Given the description of an element on the screen output the (x, y) to click on. 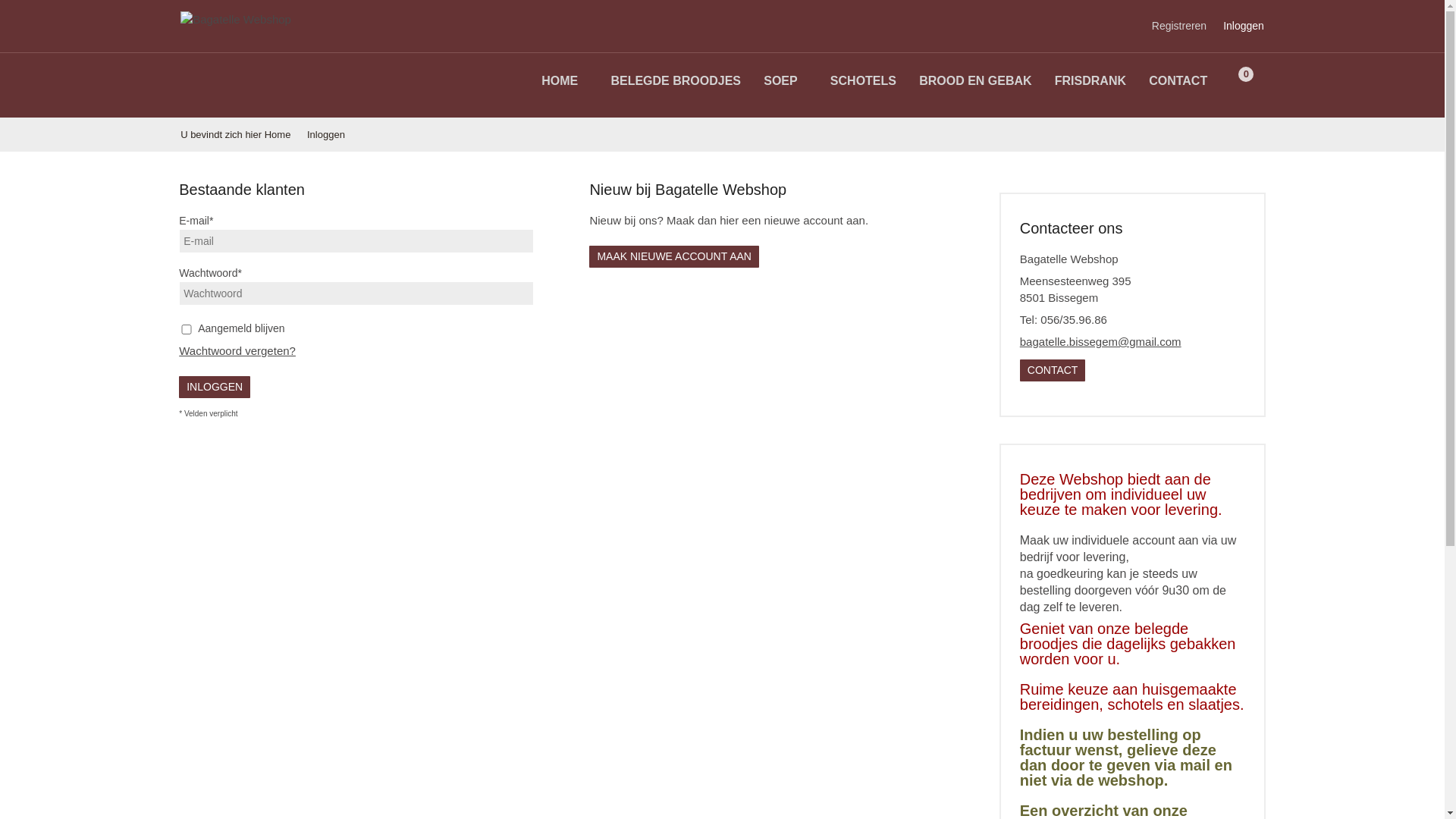
Bagatelle Webshop Element type: hover (269, 19)
Inloggen Element type: text (1243, 25)
CONTACT Element type: text (1052, 370)
Registreren Element type: text (1178, 25)
BROOD EN GEBAK Element type: text (975, 79)
0 Element type: text (1243, 78)
CONTACT Element type: text (1177, 79)
SCHOTELS Element type: text (863, 79)
bagatelle.bissegem@gmail.com Element type: text (1100, 341)
BELEGDE BROODJES Element type: text (675, 79)
MAAK NIEUWE ACCOUNT AAN Element type: text (674, 256)
Home Element type: text (284, 134)
SOEP Element type: text (780, 79)
Wachtwoord vergeten? Element type: text (236, 350)
INLOGGEN Element type: text (214, 387)
FRISDRANK Element type: text (1090, 79)
HOME Element type: text (559, 79)
